Given the description of an element on the screen output the (x, y) to click on. 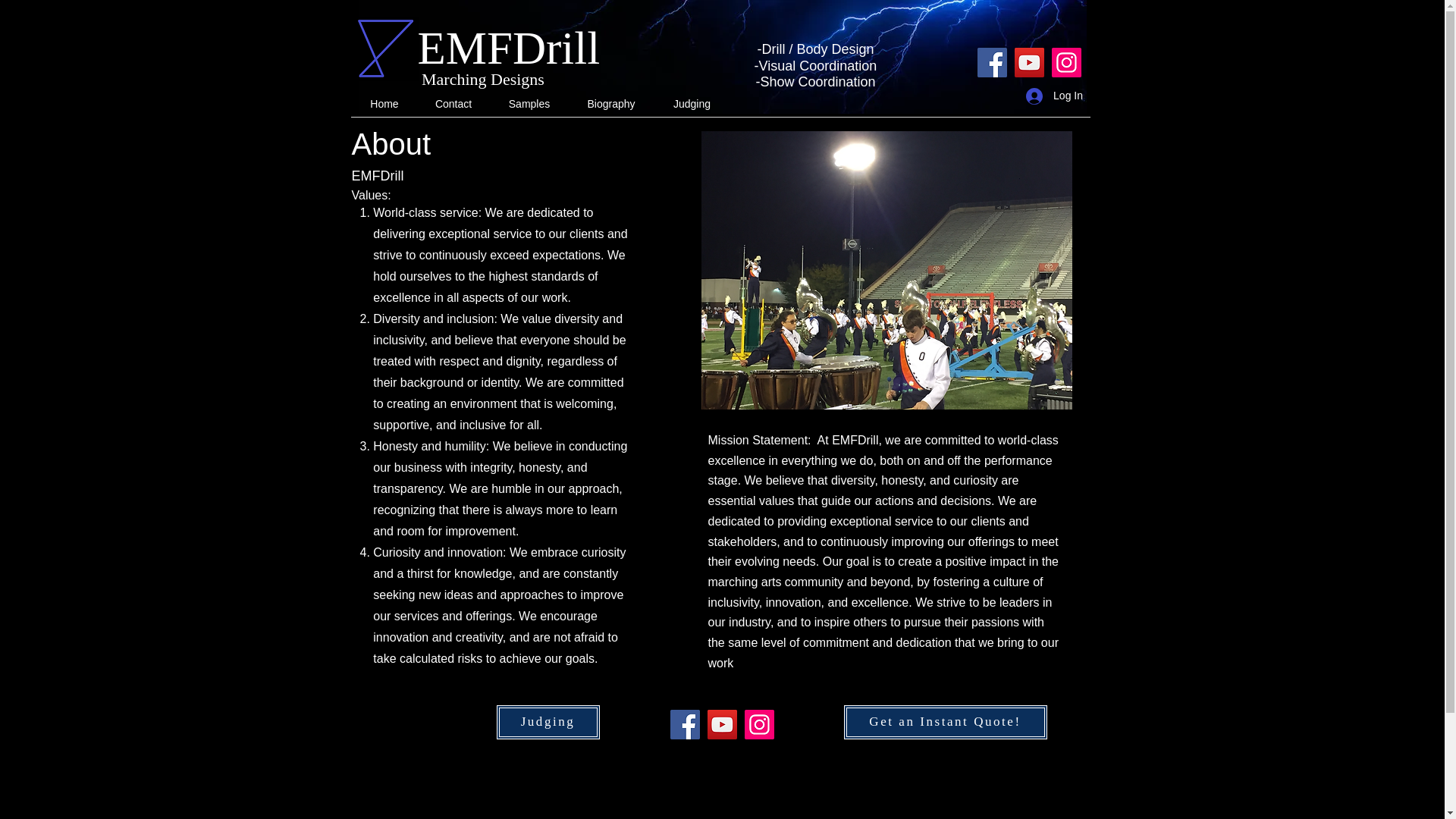
Judging (547, 722)
Contact (453, 104)
Judging (691, 104)
Samples (528, 104)
Log In (1053, 95)
Get an Instant Quote! (944, 722)
Biography (611, 104)
Home (384, 104)
